Given the description of an element on the screen output the (x, y) to click on. 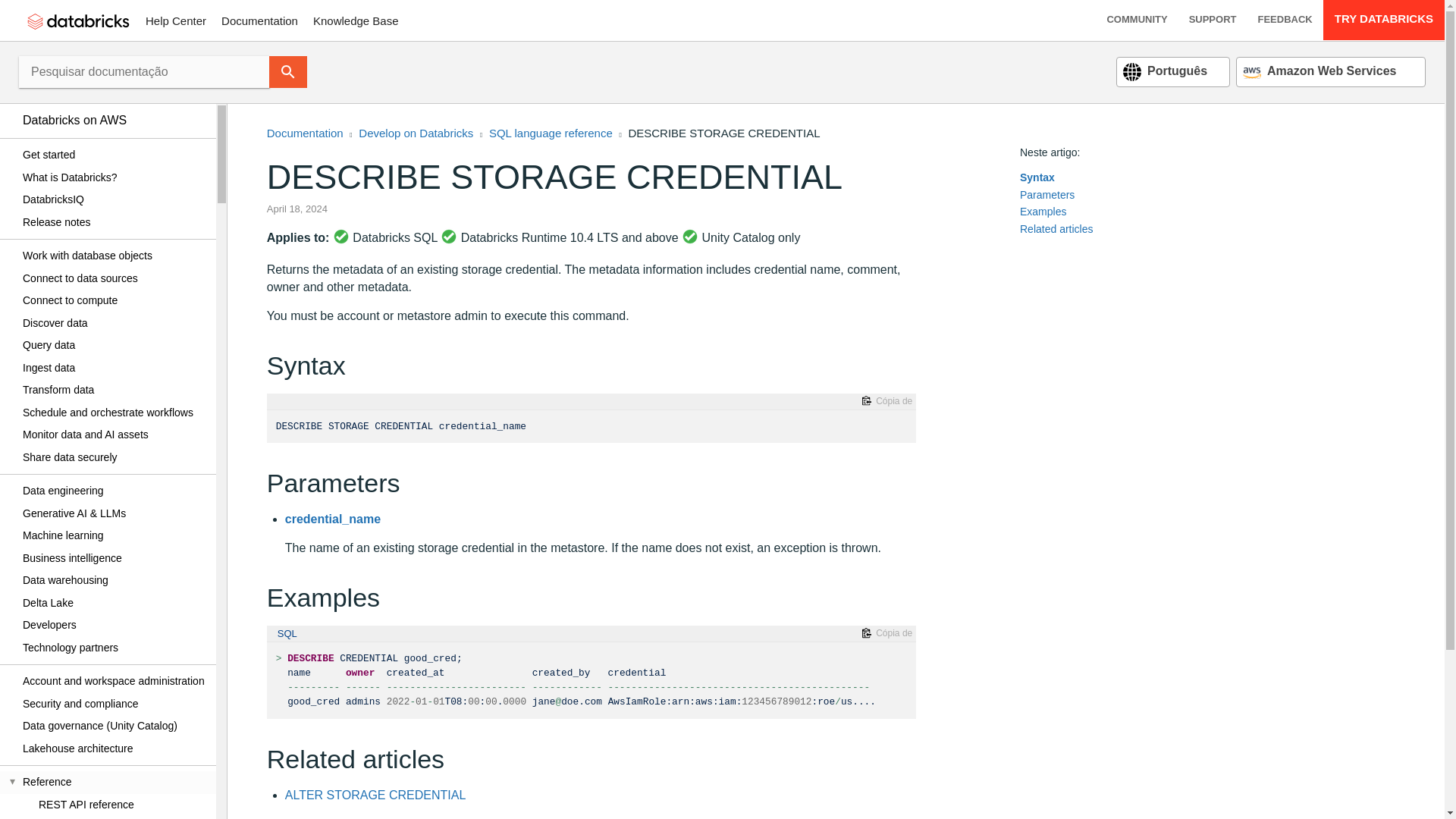
SUPPORT (1212, 19)
Account and workspace administration (113, 681)
Get started (113, 155)
Business intelligence (113, 558)
Transform data (113, 390)
Knowledge Base (355, 20)
Help Center (176, 20)
Work with database objects (113, 255)
Developers (113, 625)
Query data (113, 345)
